Given the description of an element on the screen output the (x, y) to click on. 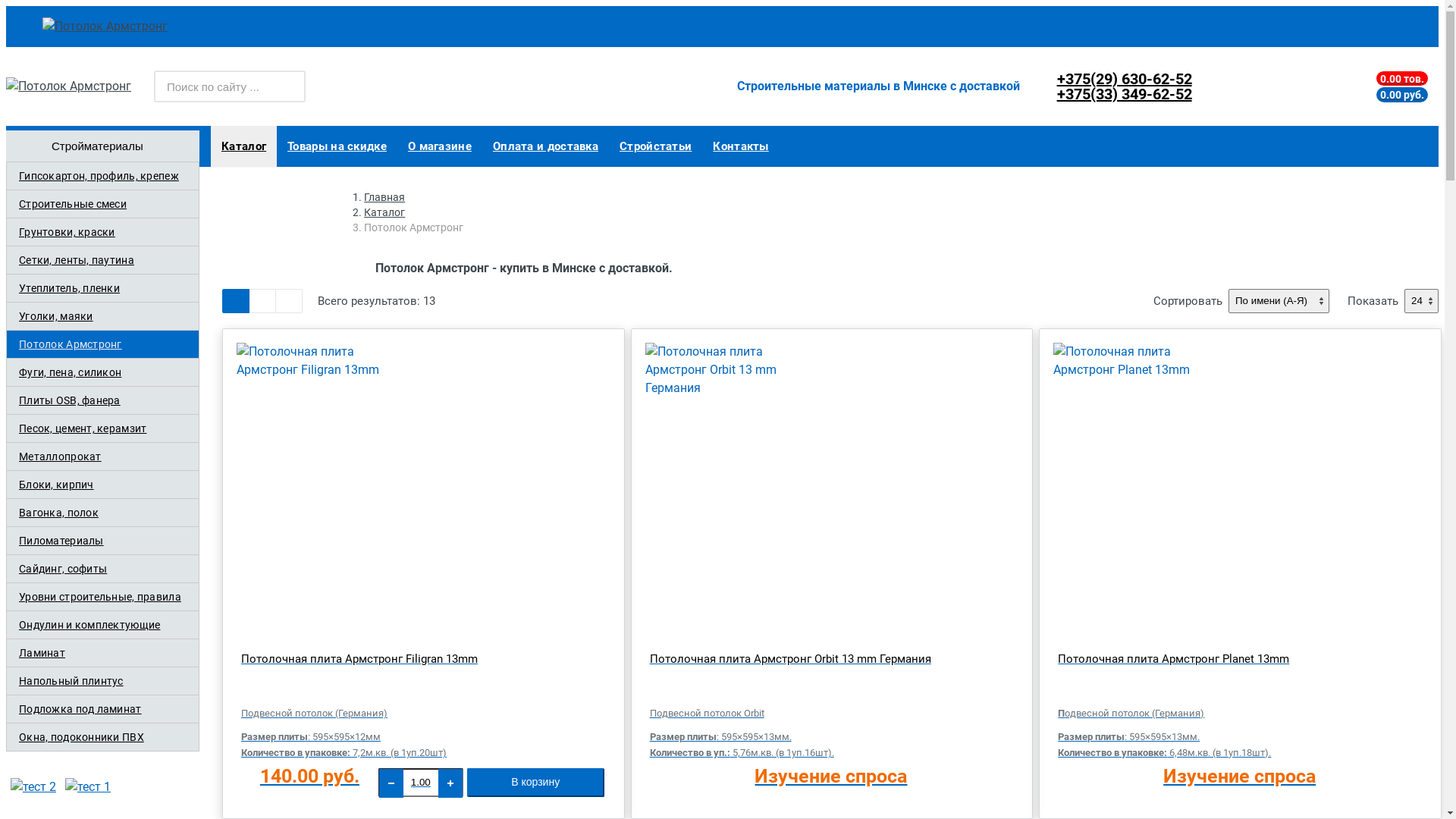
+375(29) 630-62-52 Element type: text (1124, 78)
+375(33) 349-62-52 Element type: text (1124, 93)
List Element type: hover (288, 300)
Grid With Features Element type: hover (262, 300)
cart/add Element type: text (200, 12)
Grid Element type: hover (235, 300)
